Given the description of an element on the screen output the (x, y) to click on. 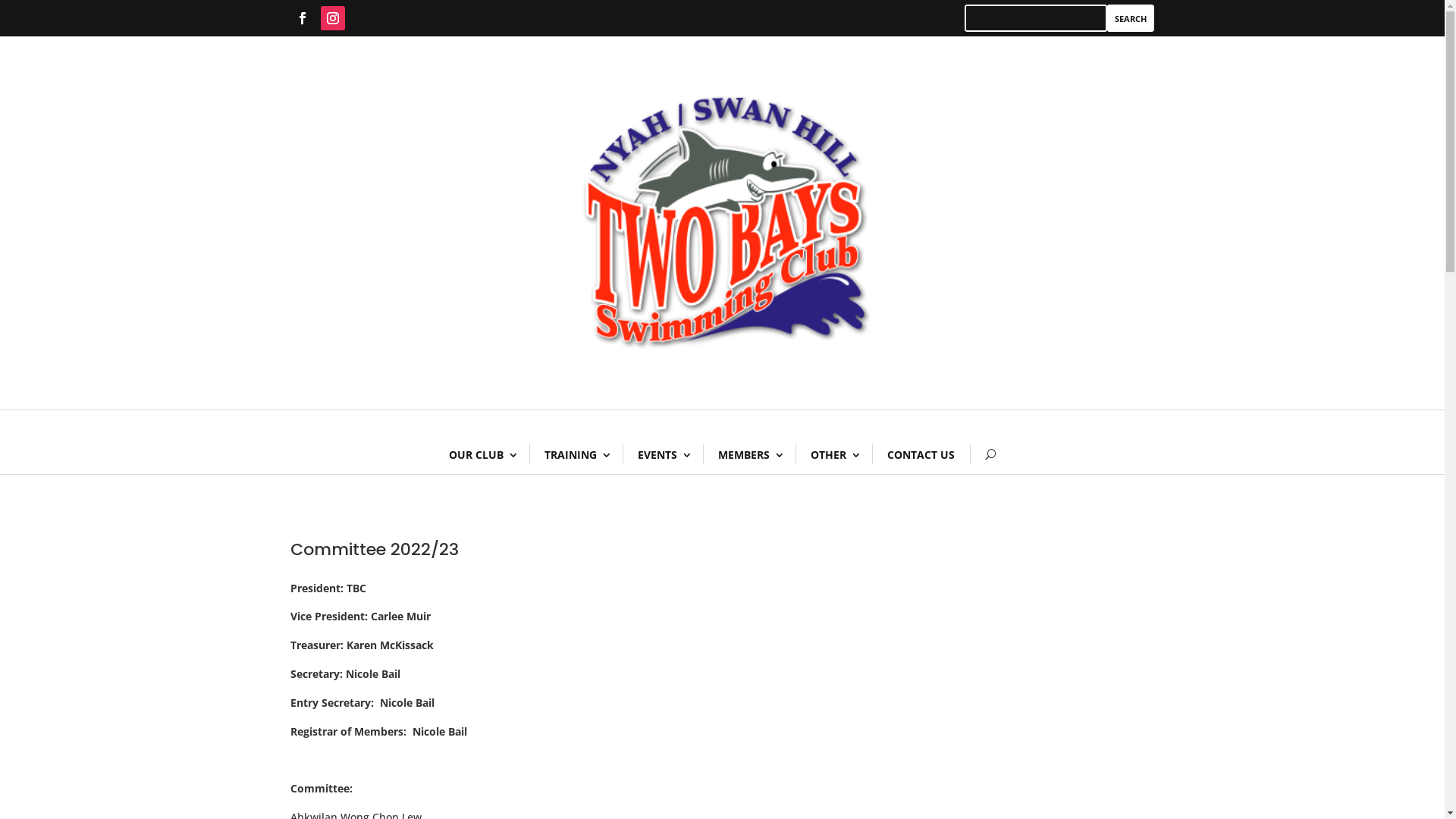
EVENTS Element type: text (662, 454)
OUR CLUB Element type: text (481, 454)
OTHER Element type: text (833, 454)
Follow on Facebook Element type: hover (301, 18)
TRAINING Element type: text (575, 454)
Follow on Instagram Element type: hover (332, 18)
CONTACT US Element type: text (920, 454)
MEMBERS Element type: text (748, 454)
Search Element type: text (1130, 17)
Two Bays logo Element type: hover (721, 222)
